Given the description of an element on the screen output the (x, y) to click on. 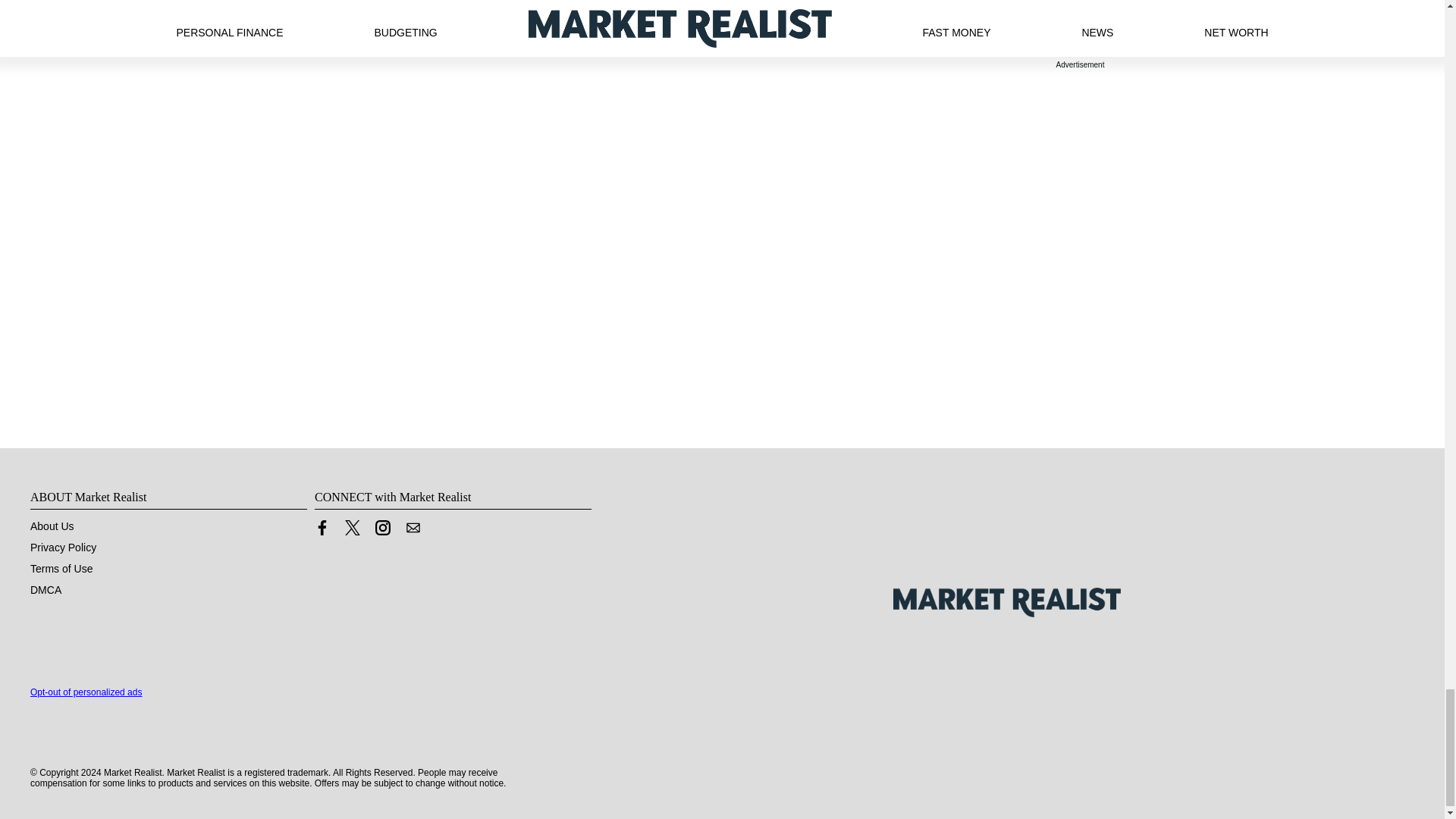
About Us (52, 526)
Privacy Policy (63, 547)
Link to Facebook (322, 527)
Contact us by Email (413, 531)
Opt-out of personalized ads (85, 692)
Terms of Use (61, 568)
Link to X (352, 527)
About Us (52, 526)
Contact us by Email (413, 527)
Link to X (352, 531)
Link to Facebook (322, 531)
DMCA (45, 589)
Terms of Use (61, 568)
Link to Instagram (382, 527)
Privacy Policy (63, 547)
